Given the description of an element on the screen output the (x, y) to click on. 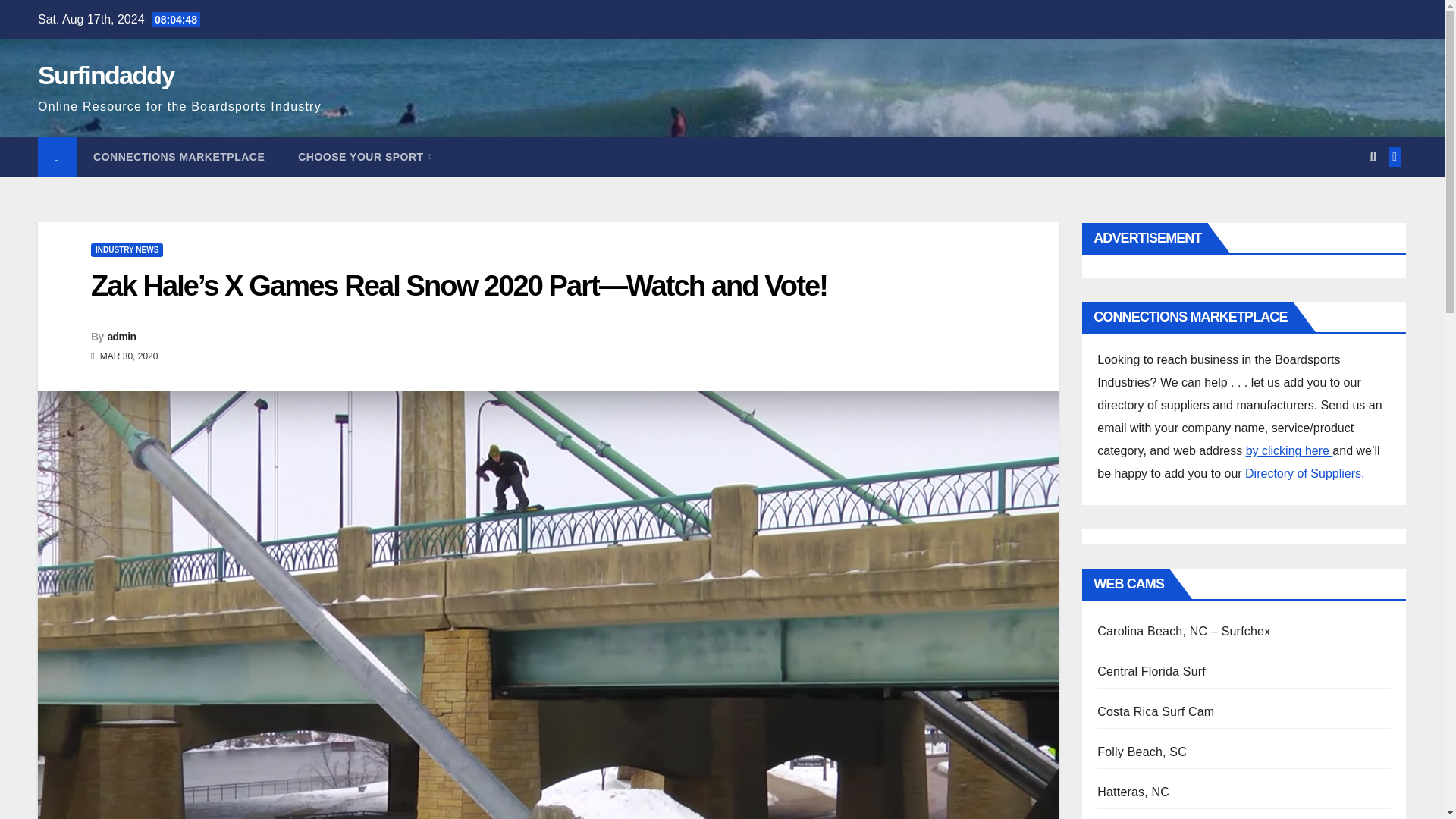
admin (121, 336)
Surfindaddy (105, 74)
Choose your Sport (364, 156)
FL Surf Cams (1151, 671)
Playa Hermosa de Jaco (1155, 711)
INDUSTRY NEWS (126, 250)
Carolina Beach (1183, 631)
CHOOSE YOUR SPORT (364, 156)
Connections Marketplace (179, 156)
CONNECTIONS MARKETPLACE (179, 156)
